Given the description of an element on the screen output the (x, y) to click on. 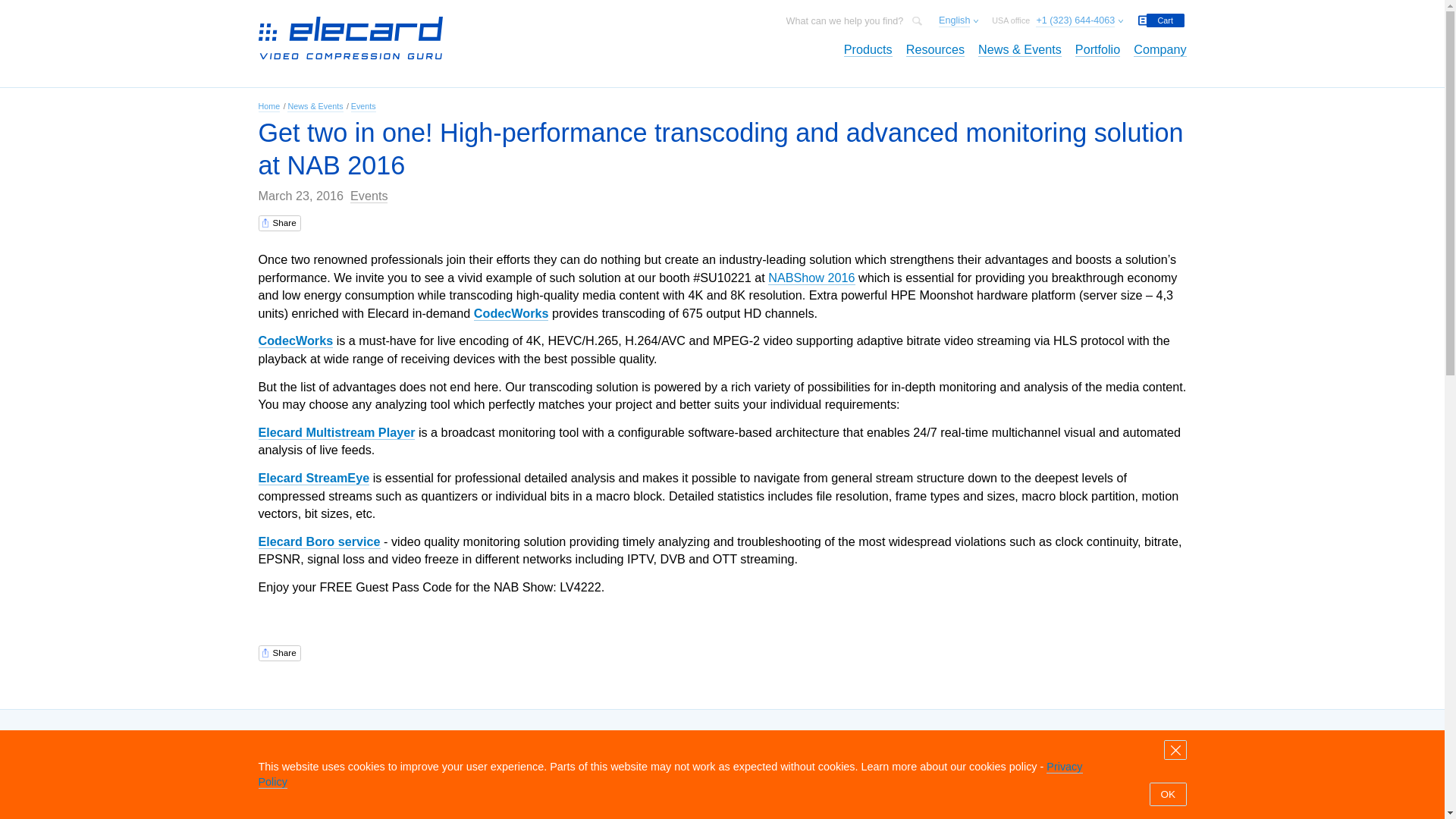
Cart (1291, 22)
Products (964, 54)
English (1065, 23)
Elecard (389, 44)
